Given the description of an element on the screen output the (x, y) to click on. 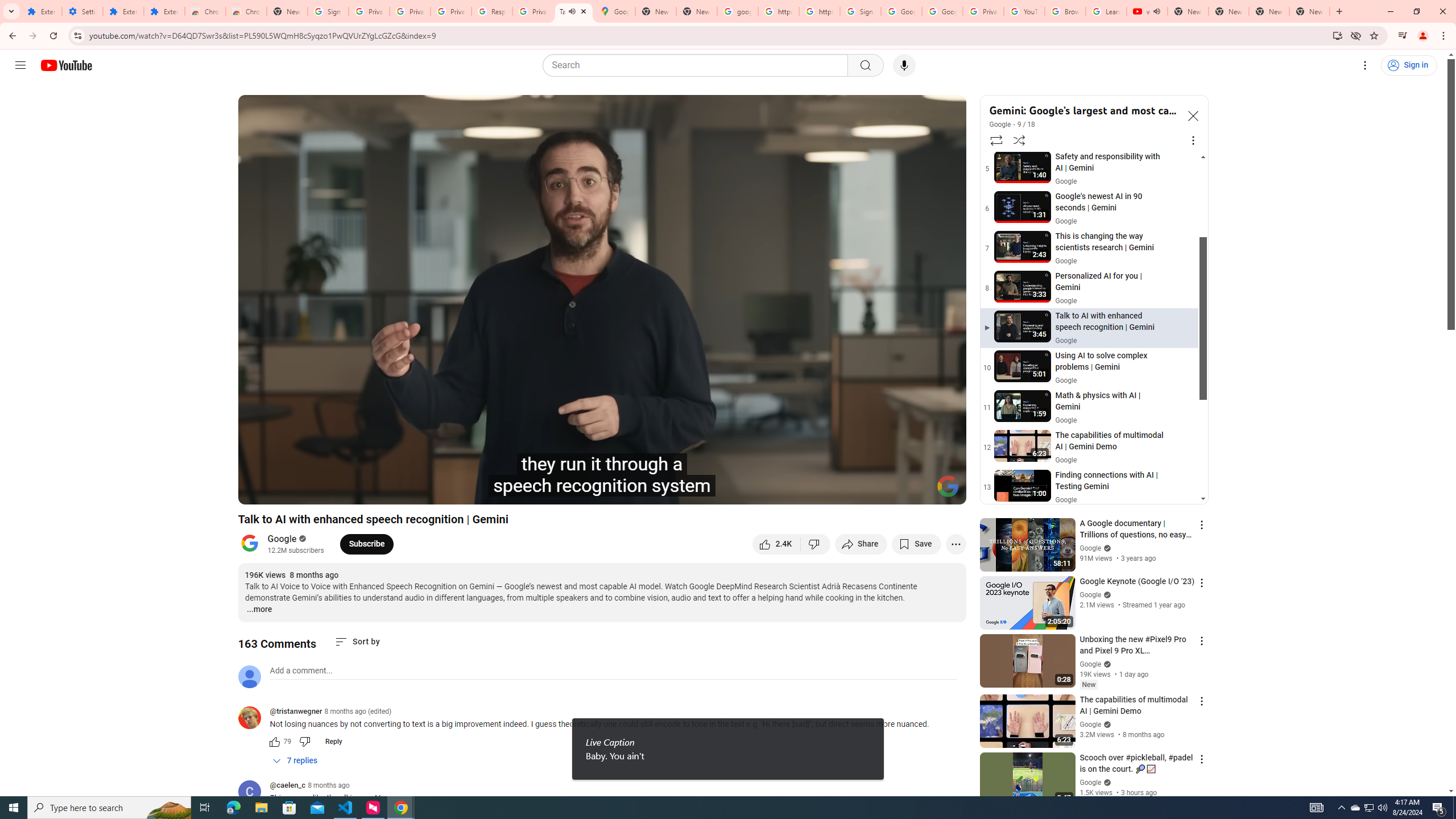
Install YouTube (1336, 35)
Guide (20, 65)
Previous (SHIFT+p) (259, 490)
...more (259, 609)
Shuffle playlist (1018, 140)
Mute (m) (338, 490)
Subtitles/closed captions unavailable (836, 490)
Dislike this video (815, 543)
